Given the description of an element on the screen output the (x, y) to click on. 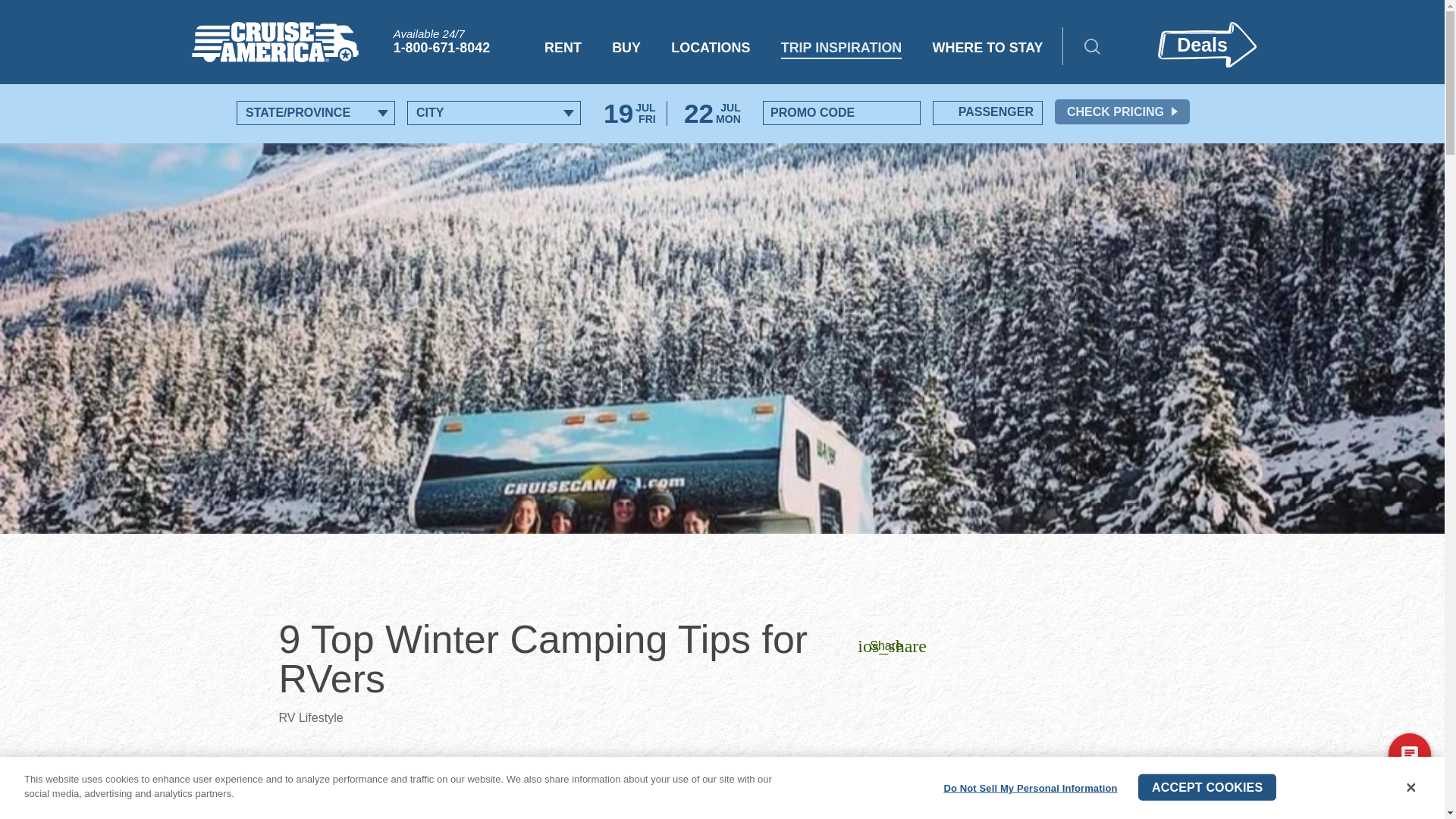
TRIP INSPIRATION (841, 48)
Deals (1206, 44)
RV camping in the winter (489, 769)
Call Cruise America at 1-800-671-8042 (441, 41)
Toggle Search Bar (1080, 46)
WHERE TO STAY (988, 48)
LOCATIONS (710, 48)
BUY (625, 48)
Messenger Launcher (1409, 757)
RENT (562, 48)
